Given the description of an element on the screen output the (x, y) to click on. 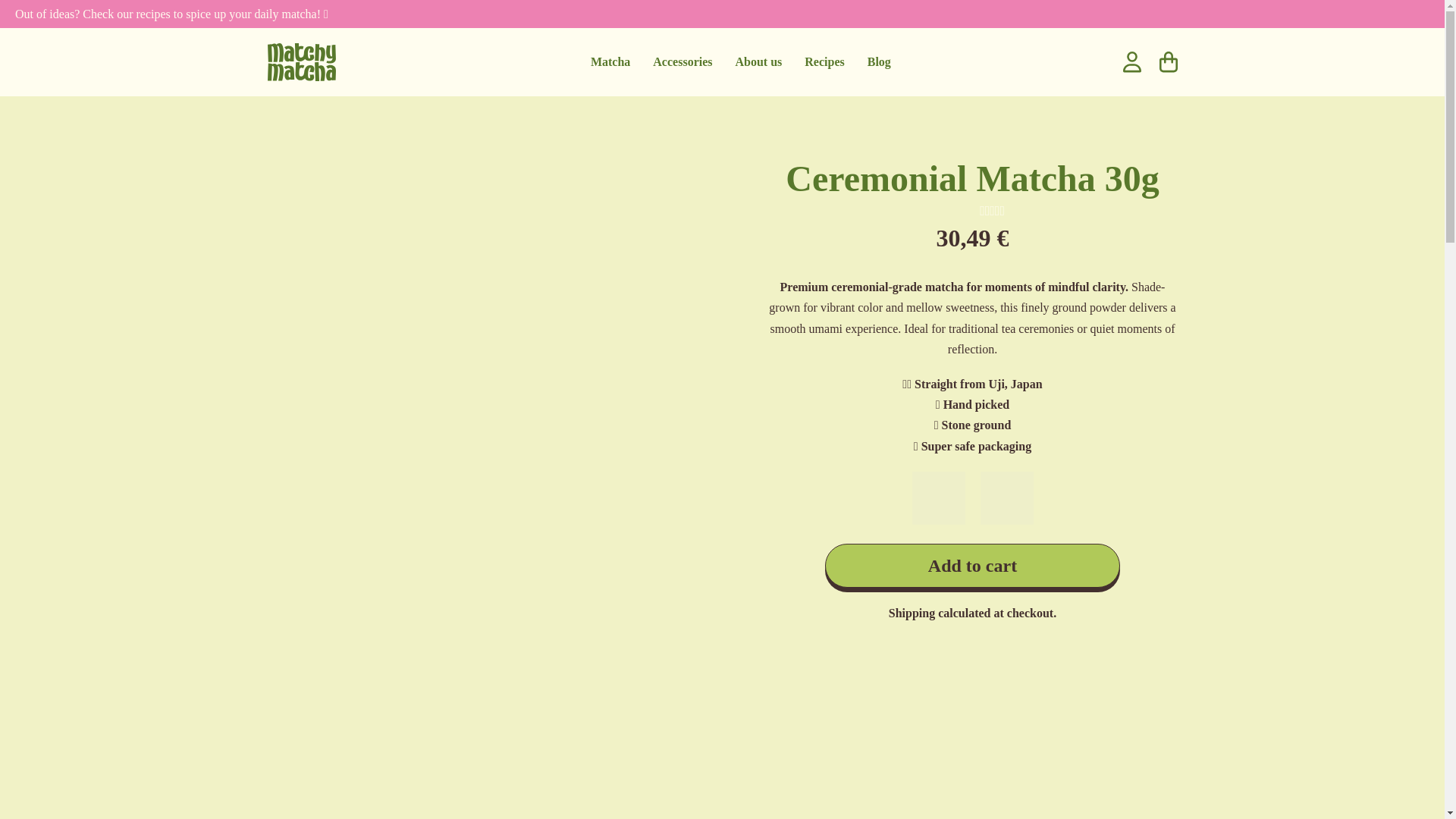
Matcha (610, 61)
Recipes (824, 61)
Add to cart (972, 565)
About us (759, 61)
Shipping calculated at checkout. (972, 612)
Accessories (681, 61)
Blog (879, 61)
